Given the description of an element on the screen output the (x, y) to click on. 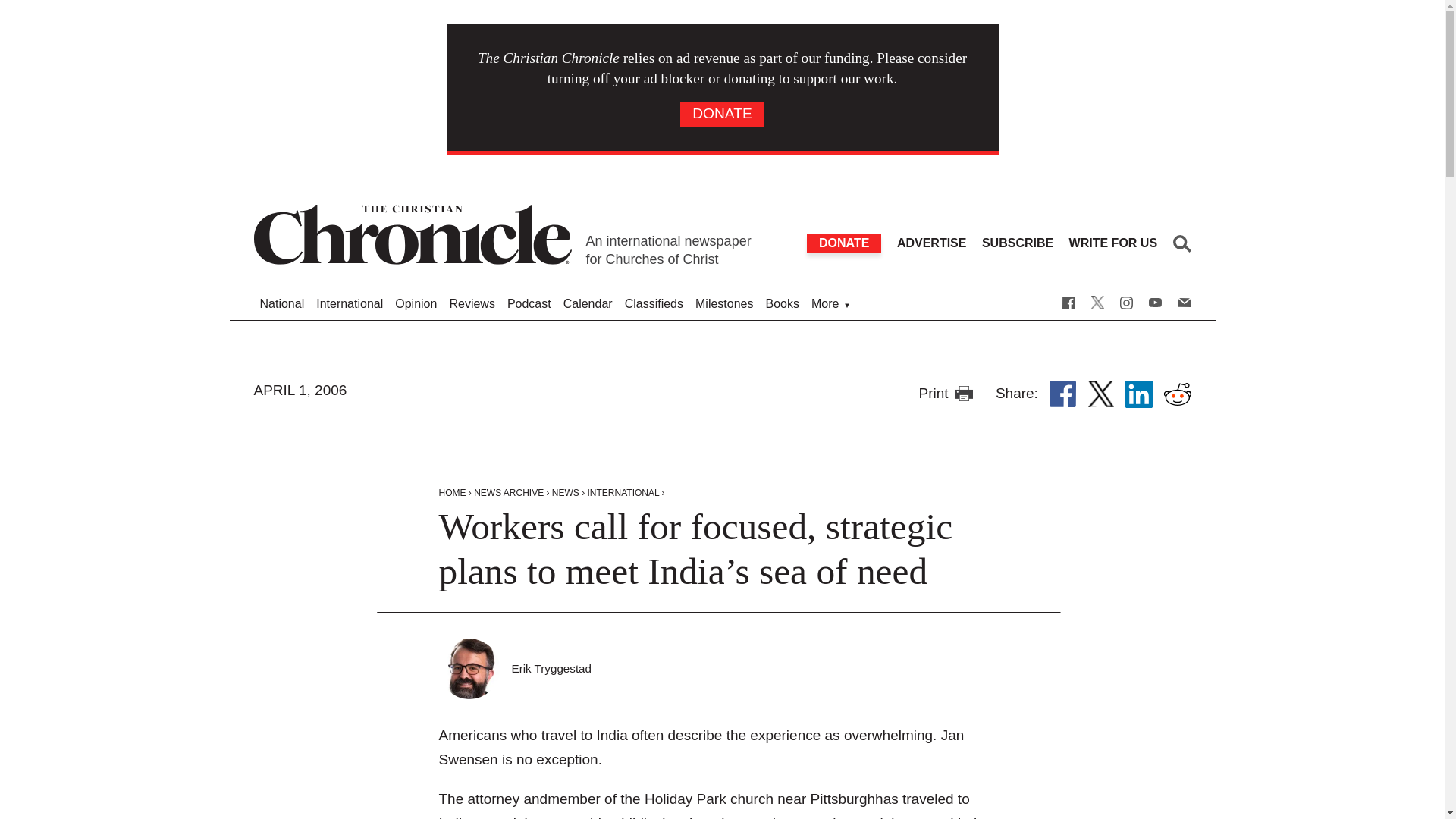
Christian Chronicle (551, 668)
WRITE FOR US (1112, 243)
Calendar (587, 304)
National (282, 304)
Opinion (415, 304)
Podcast (528, 304)
SUBSCRIBE (1016, 243)
ADVERTISE (931, 243)
Classifieds (653, 304)
International (348, 304)
DONATE (843, 243)
Books (781, 304)
SEARCH (1181, 243)
Reviews (471, 304)
Milestones (723, 304)
